Given the description of an element on the screen output the (x, y) to click on. 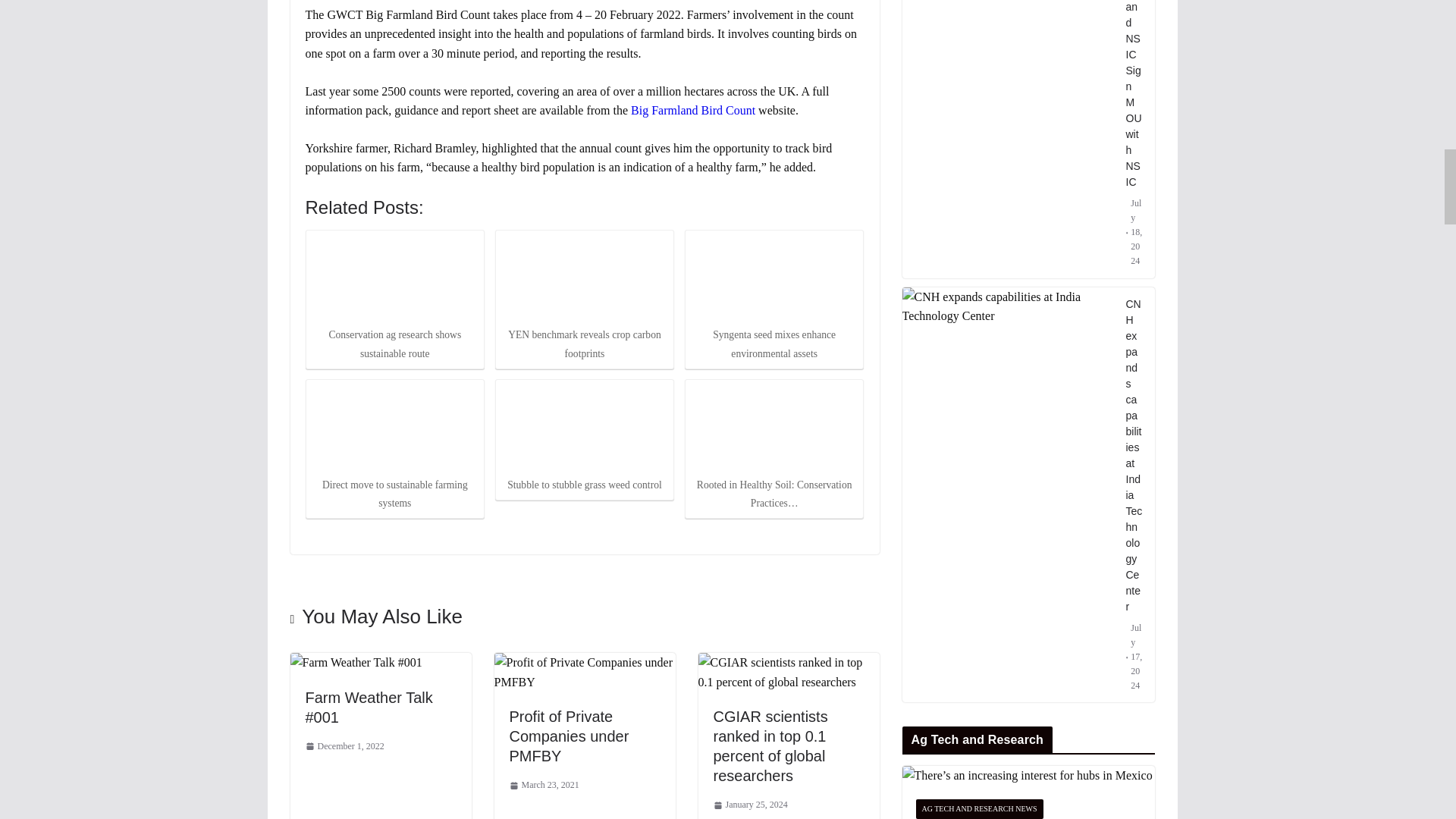
Direct move to sustainable farming systems (394, 427)
Stubble to stubble grass weed control (584, 427)
Syngenta seed mixes enhance environmental assets (774, 277)
YEN benchmark reveals crop carbon footprints (584, 277)
Conservation ag research shows sustainable route (394, 277)
